Given the description of an element on the screen output the (x, y) to click on. 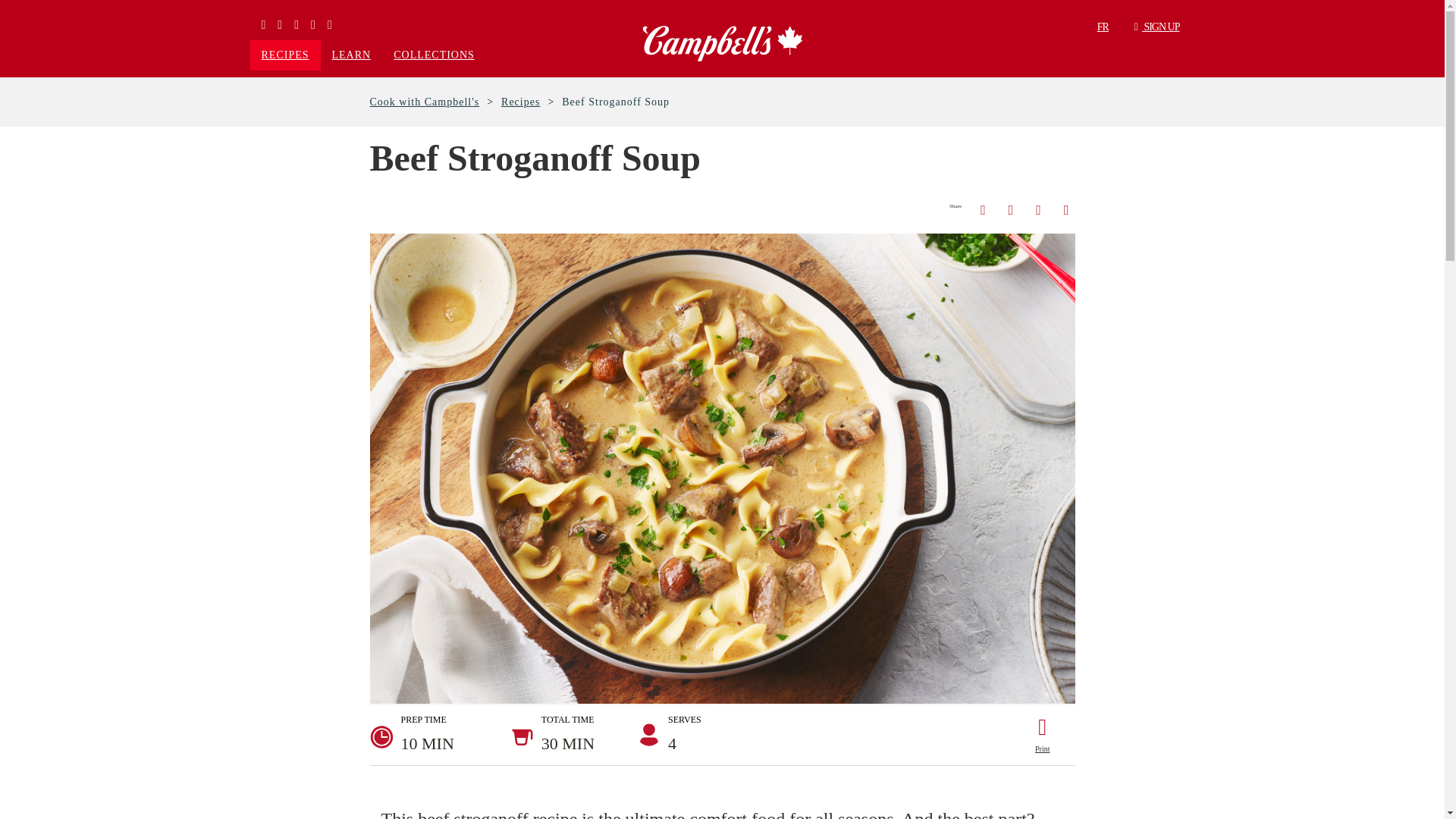
Recipes (520, 101)
RECIPES (285, 55)
SIGN UP (1157, 26)
LEARN (351, 55)
COLLECTIONS (433, 55)
Cook with Campbell's (424, 101)
